Given the description of an element on the screen output the (x, y) to click on. 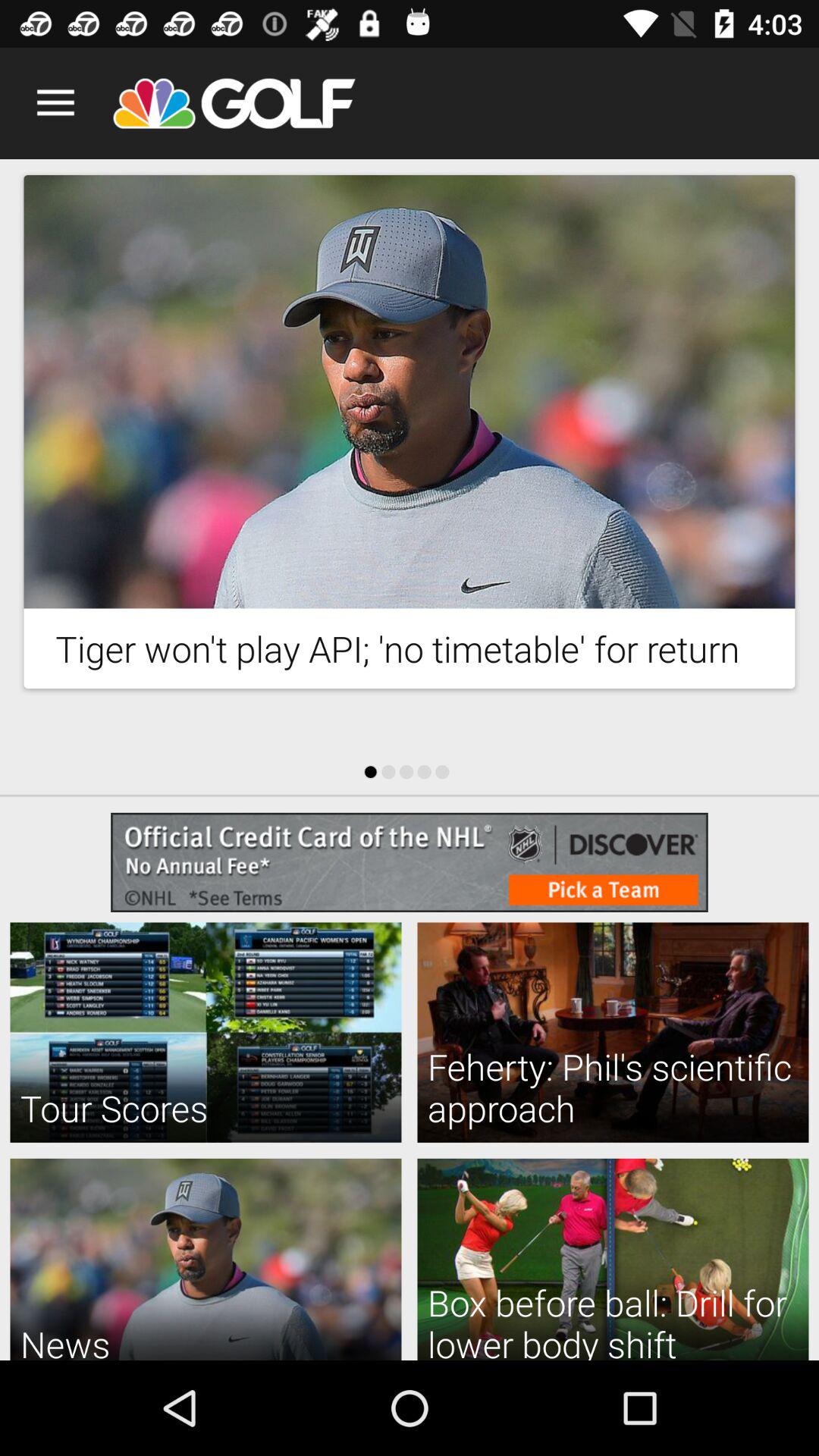
switch to article (409, 391)
